Given the description of an element on the screen output the (x, y) to click on. 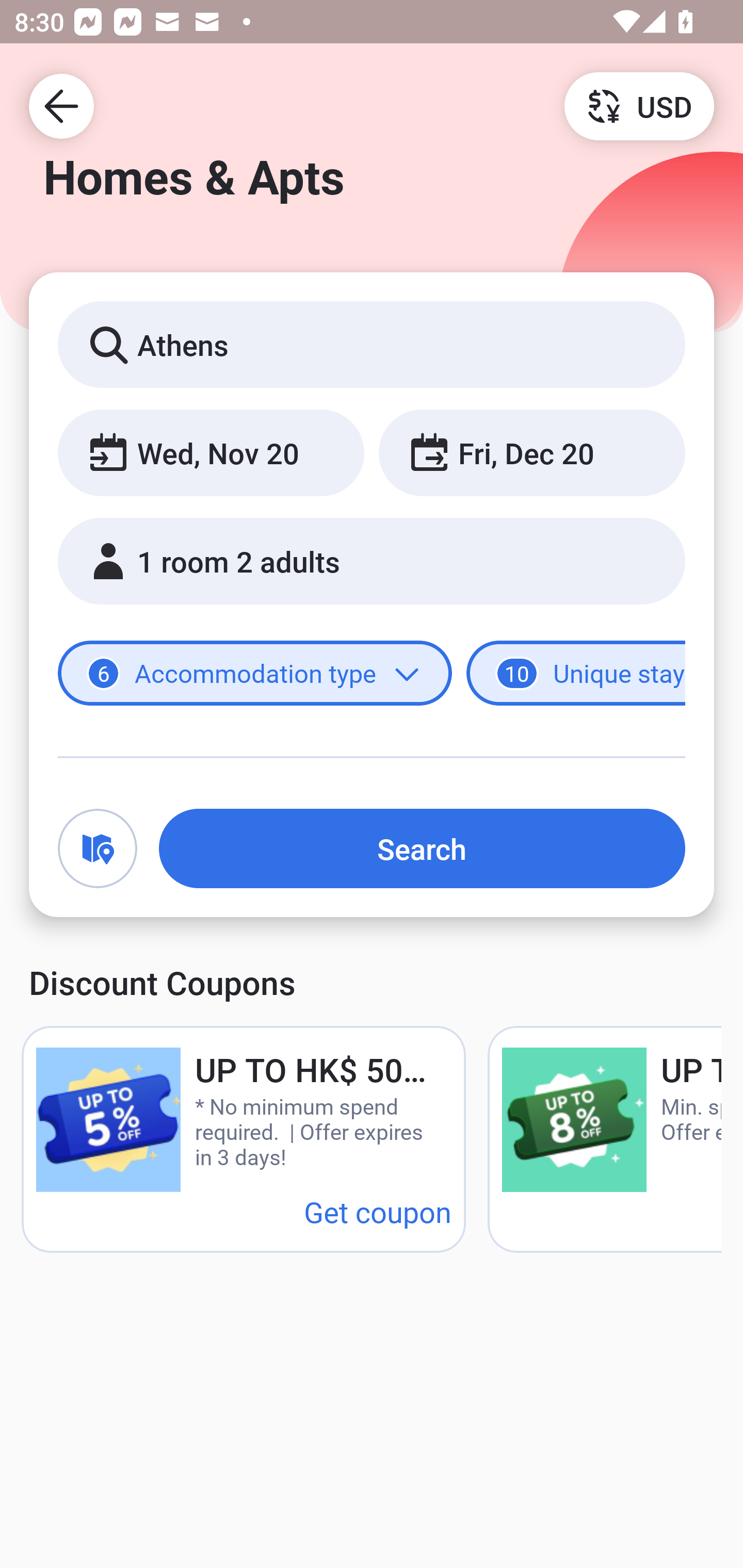
USD (639, 105)
Athens (371, 344)
Wed, Nov 20 (210, 452)
Fri, Dec 20 (531, 452)
1 room 2 adults (371, 561)
6 Accommodation type (254, 673)
10 Unique stays (575, 673)
Search (422, 848)
Get coupon (377, 1211)
